Given the description of an element on the screen output the (x, y) to click on. 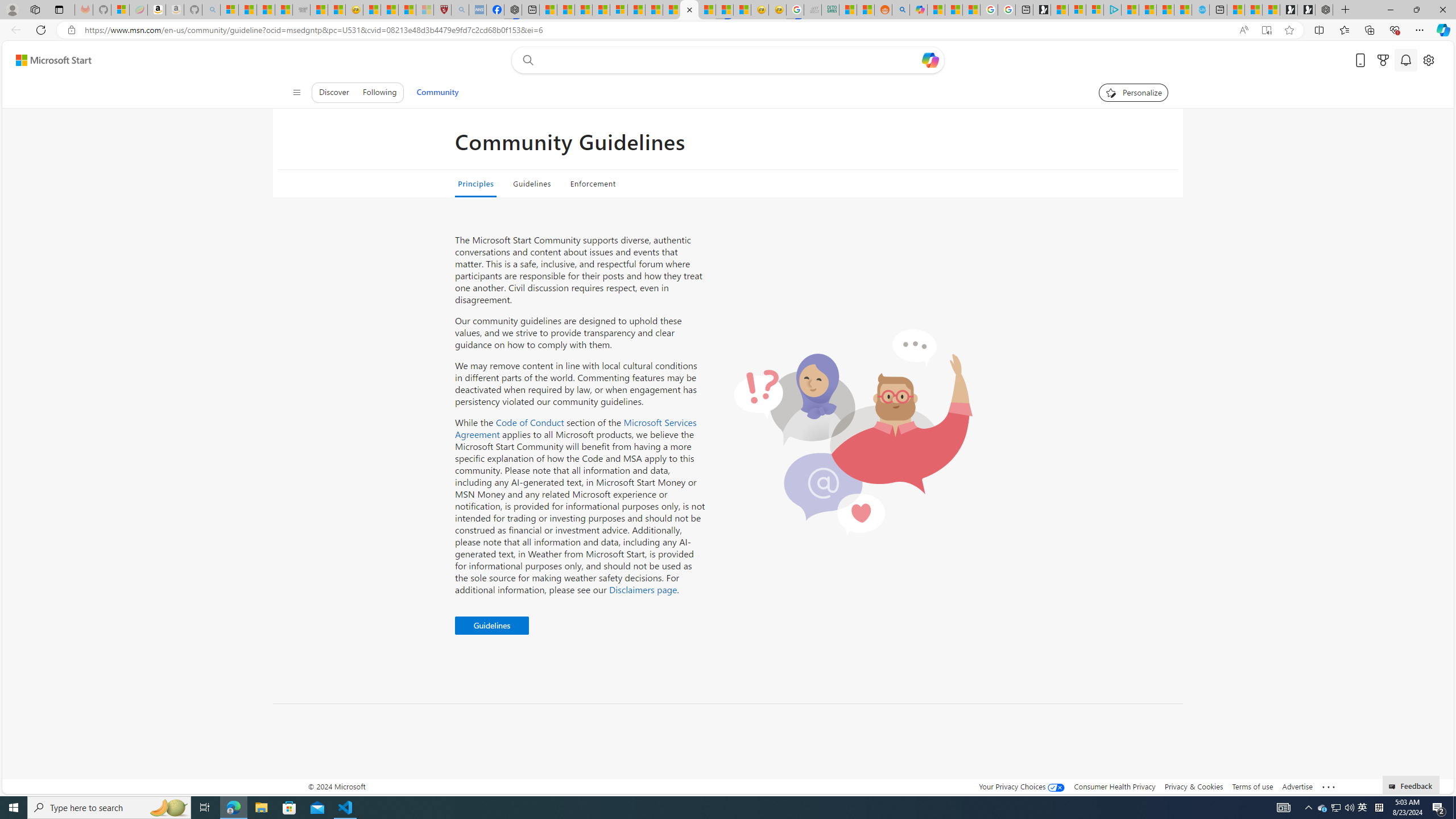
Settings and more (Alt+F) (1419, 29)
Recipes - MSN (371, 9)
Advertise (1297, 786)
Discover (333, 92)
Advertise (1297, 785)
Discover (333, 92)
list of asthma inhalers uk - Search - Sleeping (459, 9)
Microsoft rewards (1382, 60)
Class: oneFooter_seeMore-DS-EntryPoint1-1 (1328, 786)
Disclaimers page (642, 589)
